Given the description of an element on the screen output the (x, y) to click on. 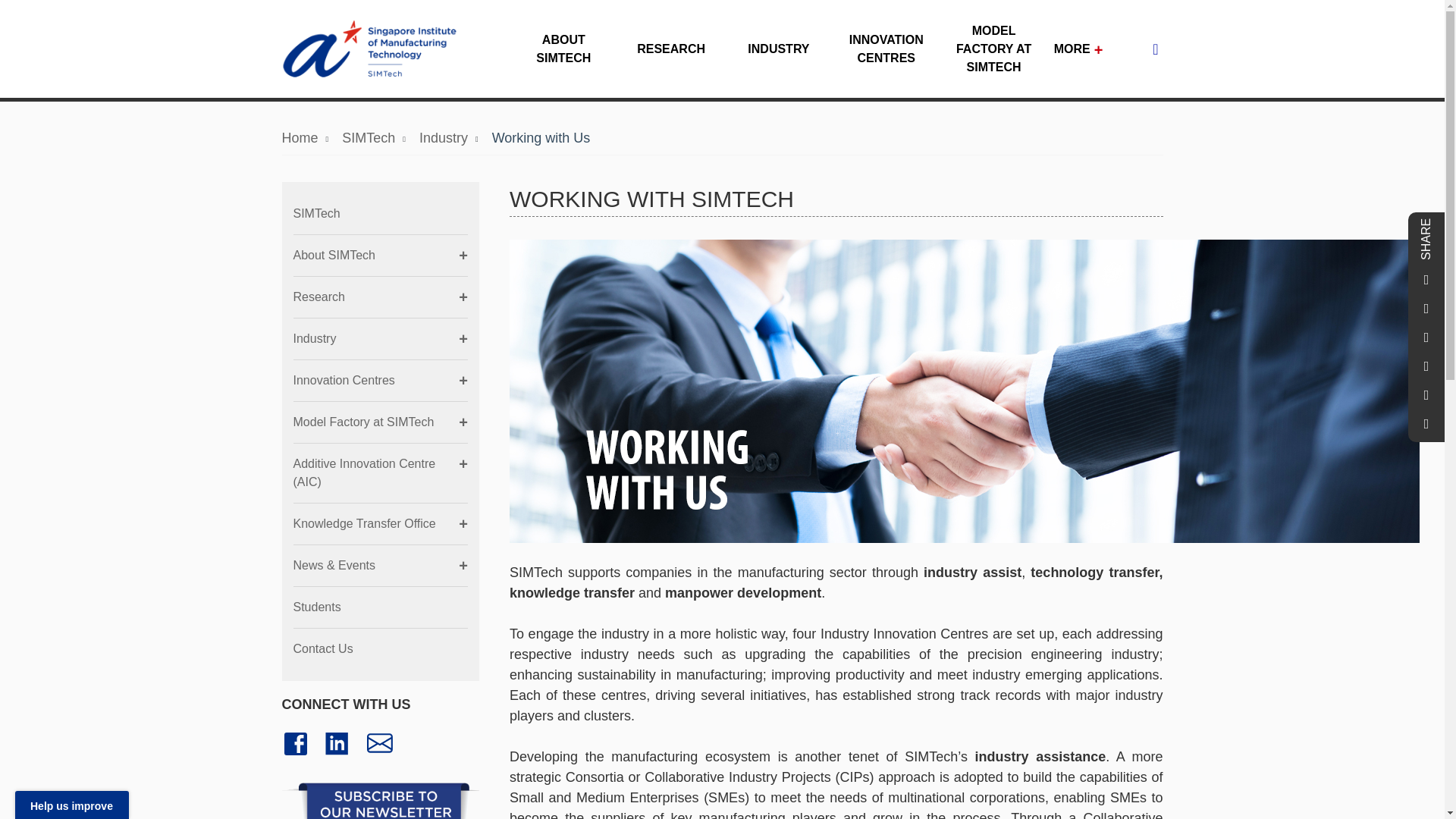
INDUSTRY (778, 56)
ABOUT SIMTECH (562, 56)
INNOVATION CENTRES (885, 56)
RESEARCH (670, 56)
MODEL FACTORY AT SIMTECH (993, 56)
